Given the description of an element on the screen output the (x, y) to click on. 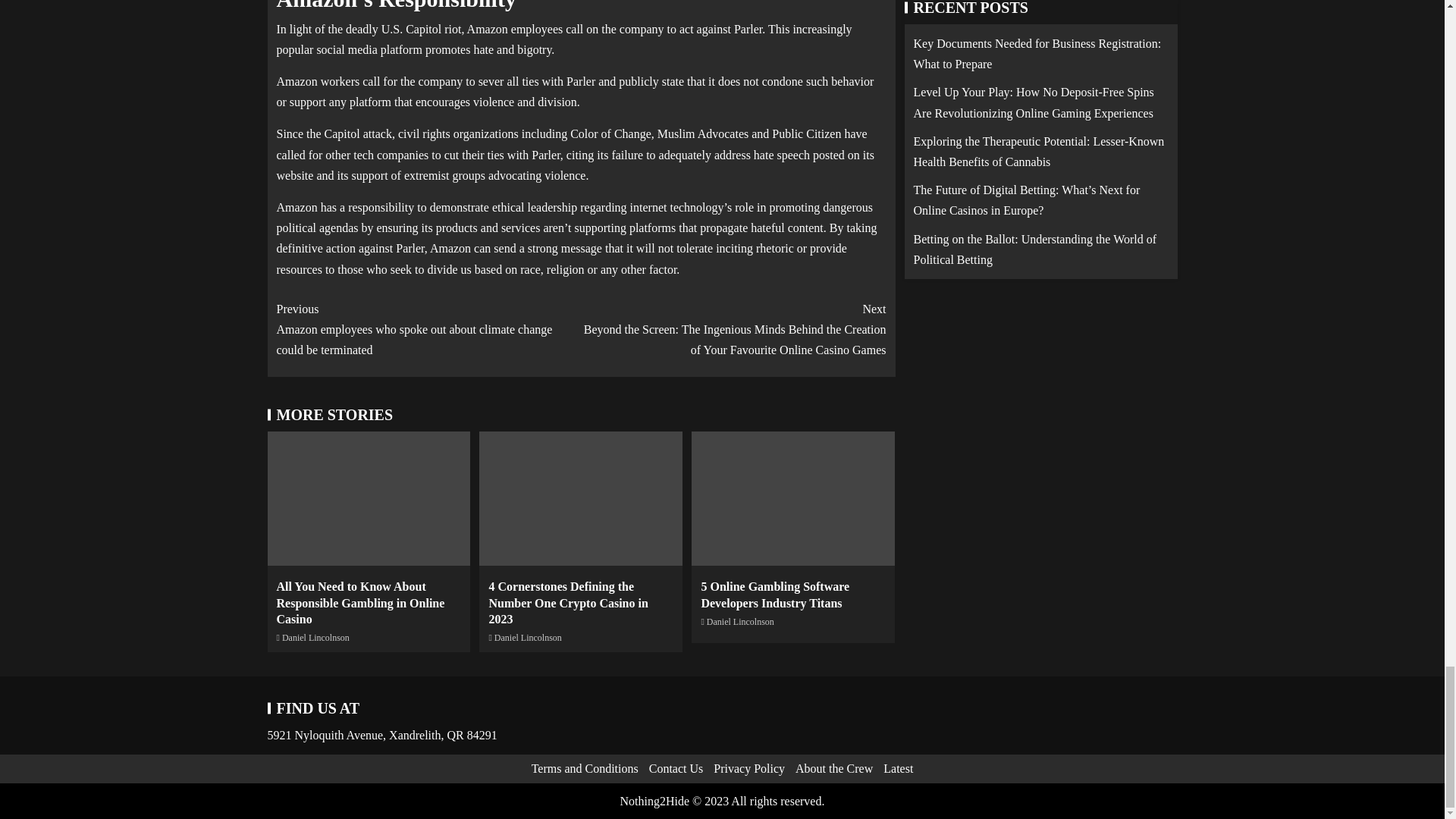
Daniel Lincolnson (740, 621)
5 Online Gambling Software Developers Industry Titans (774, 594)
Daniel Lincolnson (315, 637)
Daniel Lincolnson (528, 637)
4 Cornerstones Defining the Number One Crypto Casino in 2023 (567, 602)
